Given the description of an element on the screen output the (x, y) to click on. 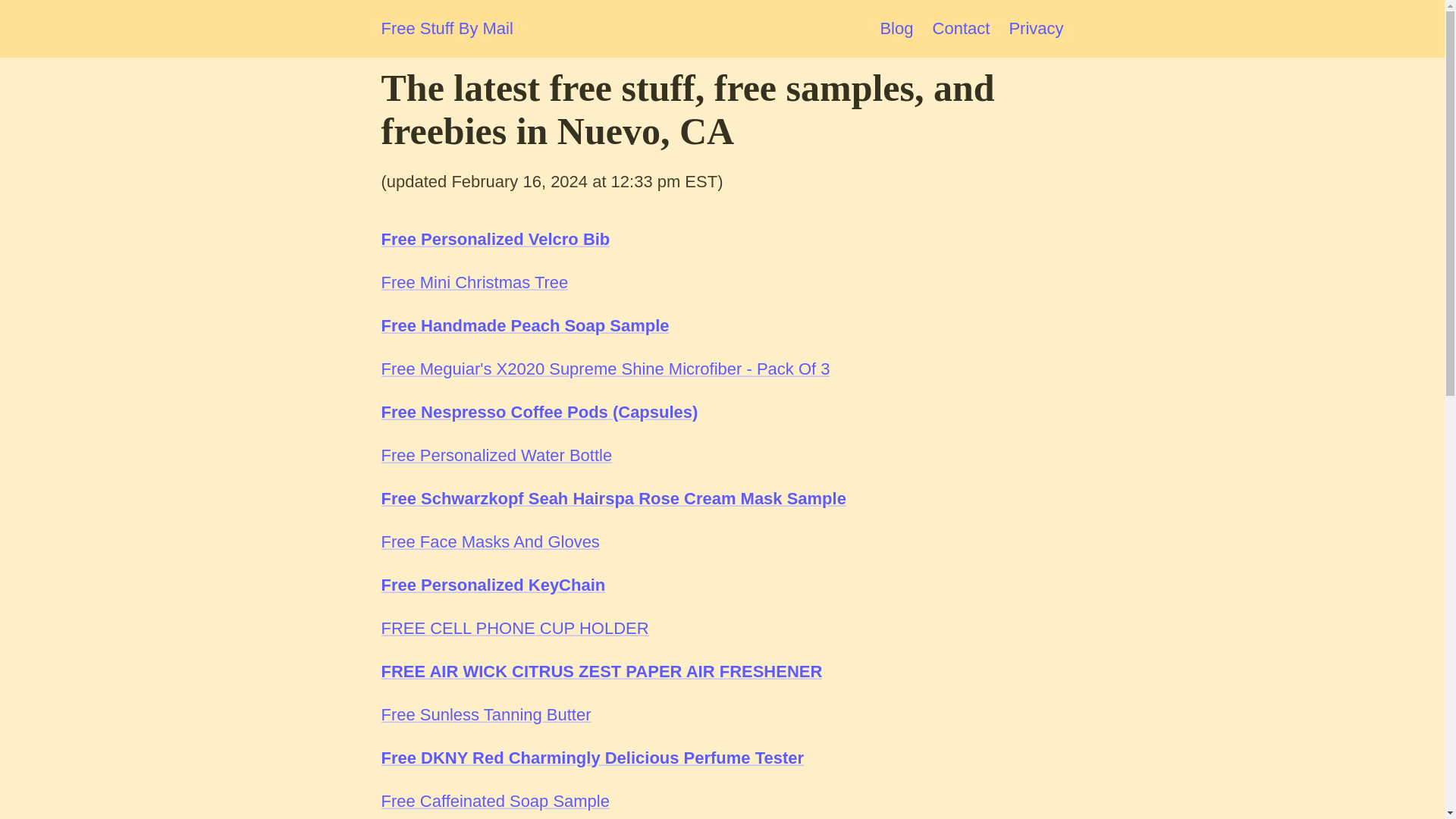
Free Face Masks And Gloves (489, 541)
Blog (895, 27)
Free Personalized Velcro Bib (495, 239)
FREE CELL PHONE CUP HOLDER (513, 628)
Free Schwarzkopf Seah Hairspa Rose Cream Mask Sample (612, 497)
Free Personalized Water Bottle (495, 455)
Free Stuff By Mail (446, 28)
Privacy (1035, 27)
Free Personalized KeyChain (492, 584)
Contact (961, 27)
FREE AIR WICK CITRUS ZEST PAPER AIR FRESHENER (601, 670)
Free Meguiar's X2020 Supreme Shine Microfiber - Pack Of 3 (604, 368)
Free Sunless Tanning Butter (485, 714)
Free DKNY Red Charmingly Delicious Perfume Tester (591, 757)
Free Mini Christmas Tree (473, 281)
